Given the description of an element on the screen output the (x, y) to click on. 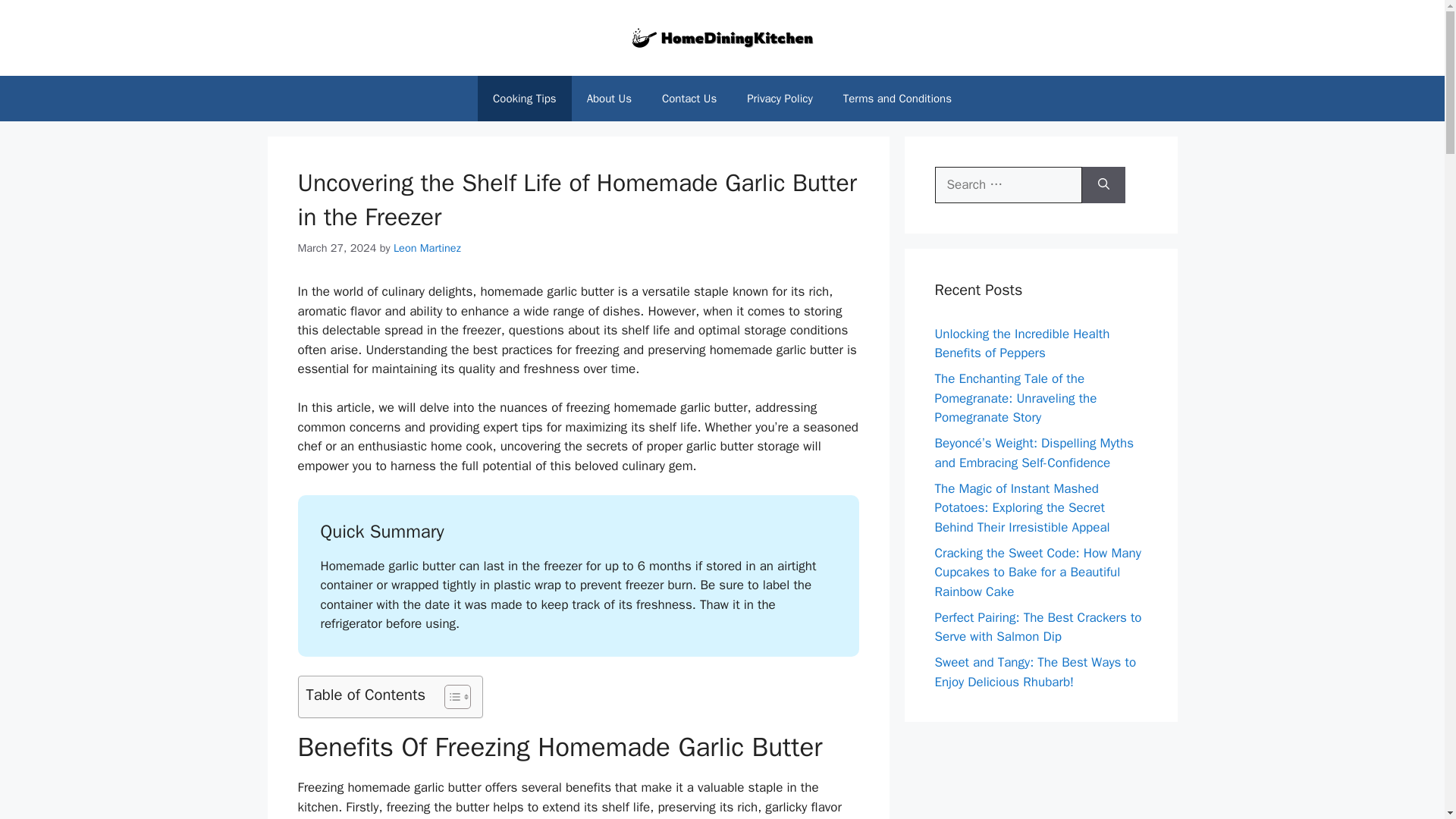
Unlocking the Incredible Health Benefits of Peppers (1021, 343)
View all posts by Leon Martinez (427, 247)
Perfect Pairing: The Best Crackers to Serve with Salmon Dip (1037, 627)
Terms and Conditions (897, 98)
Sweet and Tangy: The Best Ways to Enjoy Delicious Rhubarb! (1034, 672)
Leon Martinez (427, 247)
Privacy Policy (780, 98)
Cooking Tips (524, 98)
About Us (609, 98)
Contact Us (689, 98)
Search for: (1007, 185)
